Given the description of an element on the screen output the (x, y) to click on. 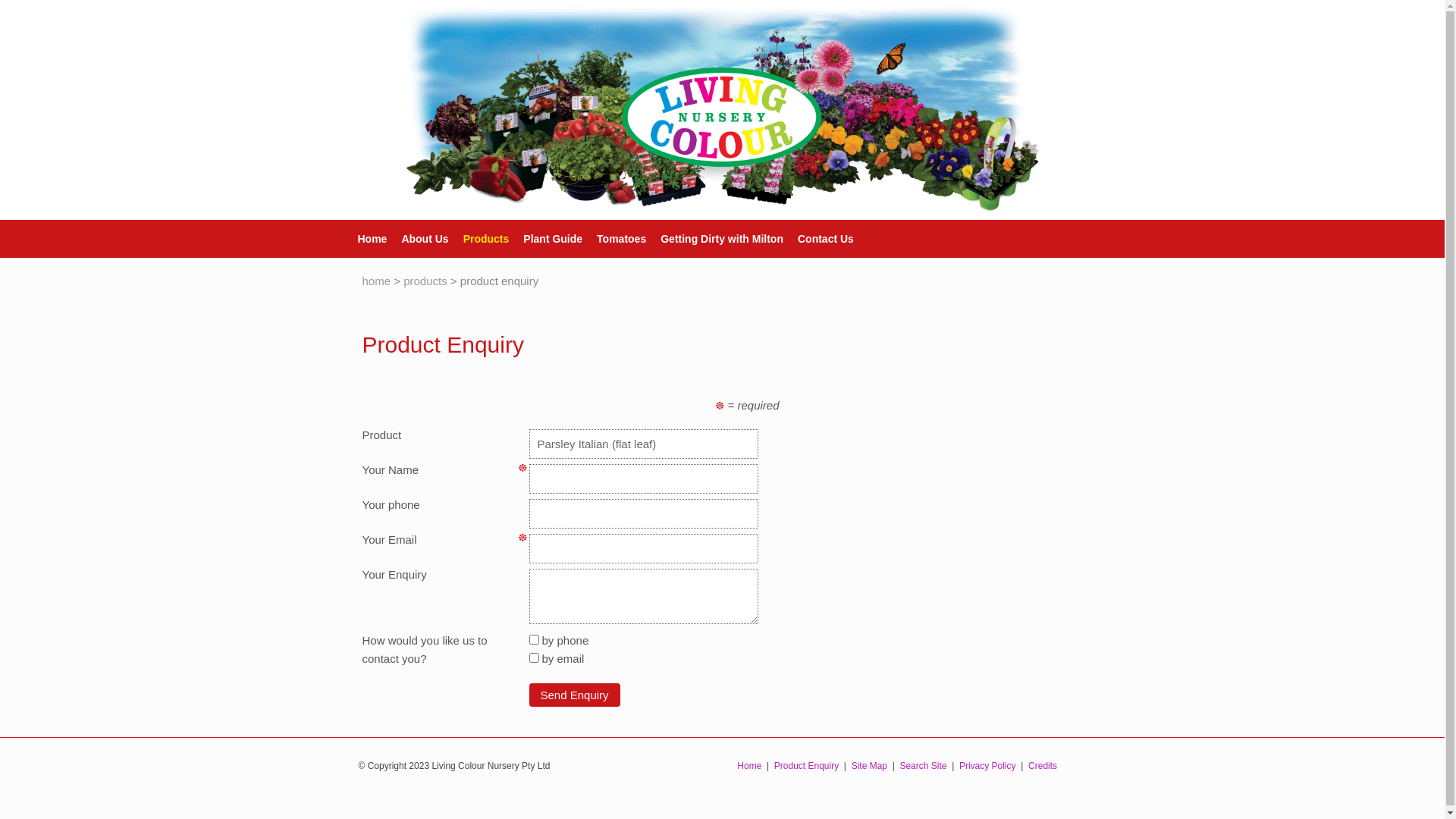
Back to home Element type: text (721, 109)
Contact Us Element type: text (818, 238)
Getting Dirty with Milton Element type: text (714, 238)
products Element type: text (425, 280)
home Element type: text (376, 280)
Privacy Policy Element type: text (987, 764)
Search Site Element type: text (922, 764)
Home Element type: text (749, 764)
Credits Element type: text (1042, 764)
Product Enquiry Element type: text (806, 764)
Products Element type: text (478, 238)
Plant Guide Element type: text (545, 238)
Send Enquiry Element type: text (574, 694)
Home Element type: text (364, 238)
Site Map Element type: text (869, 764)
About Us Element type: text (417, 238)
Tomatoes Element type: text (614, 238)
